Given the description of an element on the screen output the (x, y) to click on. 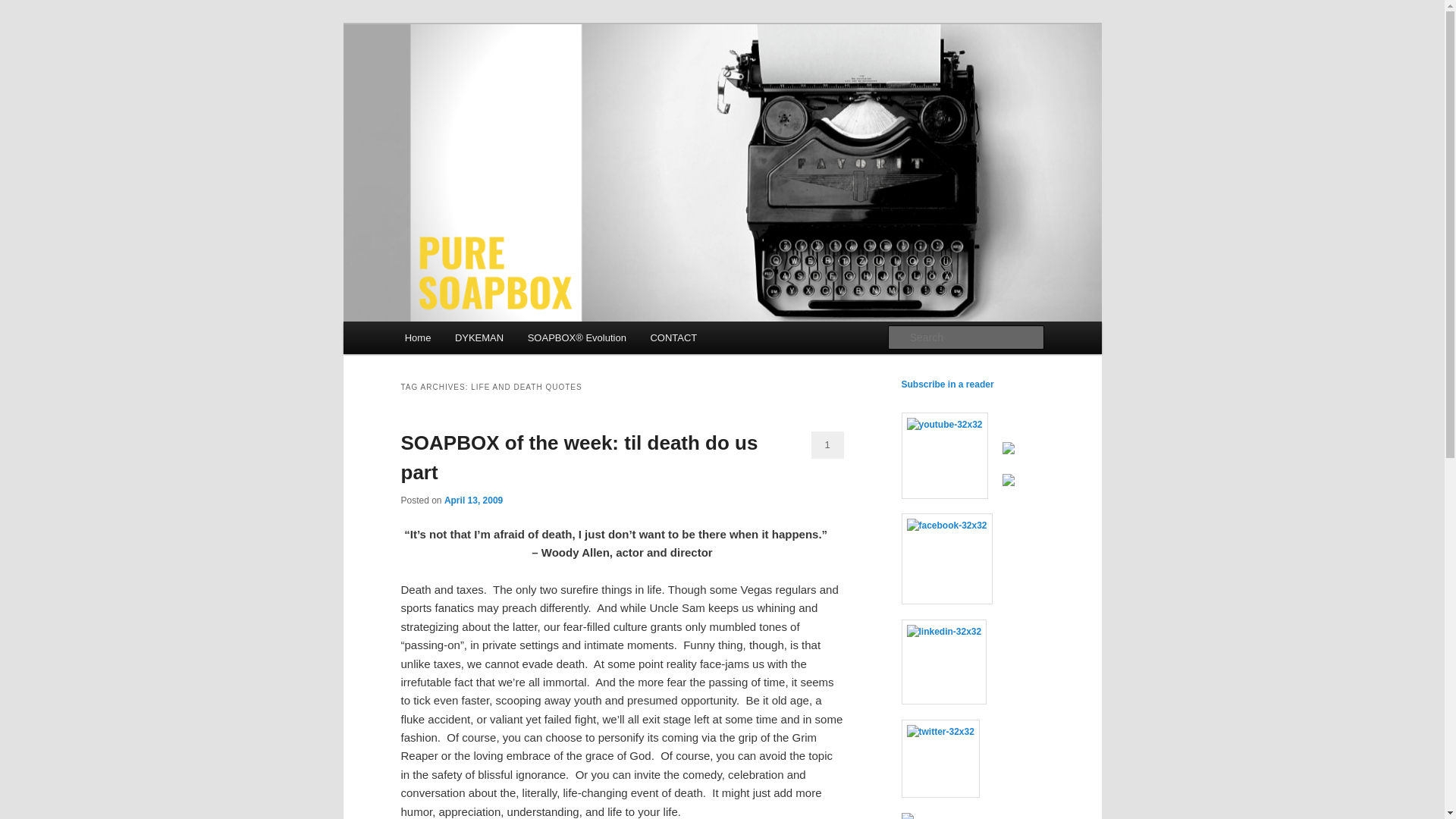
twitter-32x32 (939, 758)
9:17 am (473, 499)
Home (417, 337)
1 (827, 444)
DYKEMAN (478, 337)
Search (24, 8)
linkedin-32x32 (944, 662)
April 13, 2009 (473, 499)
Subscribe to my feed (946, 384)
youtube-32x32 (944, 455)
PURE SOAPBOX (491, 78)
facebook-32x32 (946, 558)
SOAPBOX of the week: til death do us part (578, 457)
CONTACT (674, 337)
